Given the description of an element on the screen output the (x, y) to click on. 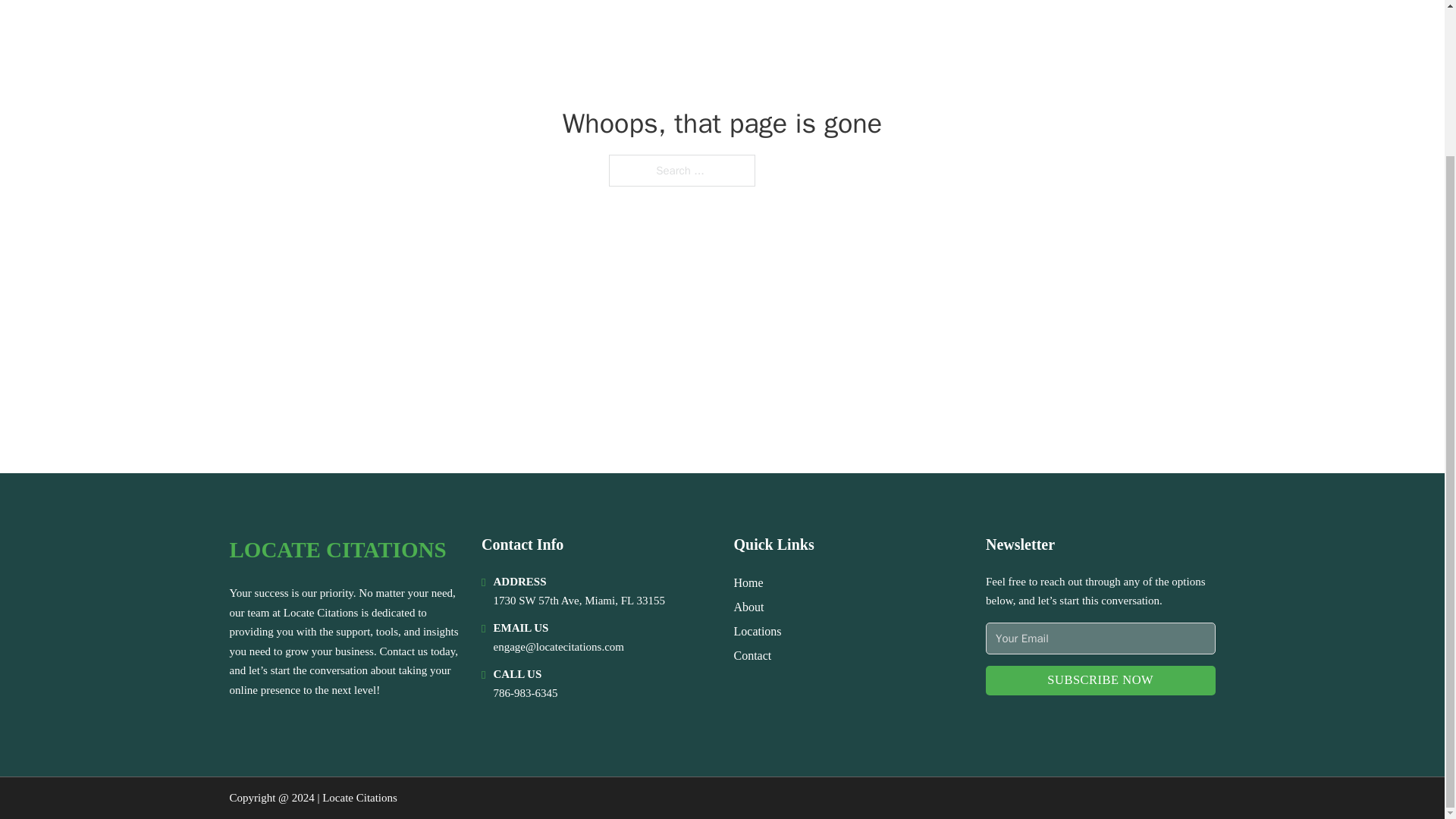
Contact (752, 655)
LOCATE CITATIONS (336, 549)
Home (747, 582)
786-983-6345 (525, 693)
Locations (757, 630)
About (748, 607)
SUBSCRIBE NOW (1100, 680)
